Given the description of an element on the screen output the (x, y) to click on. 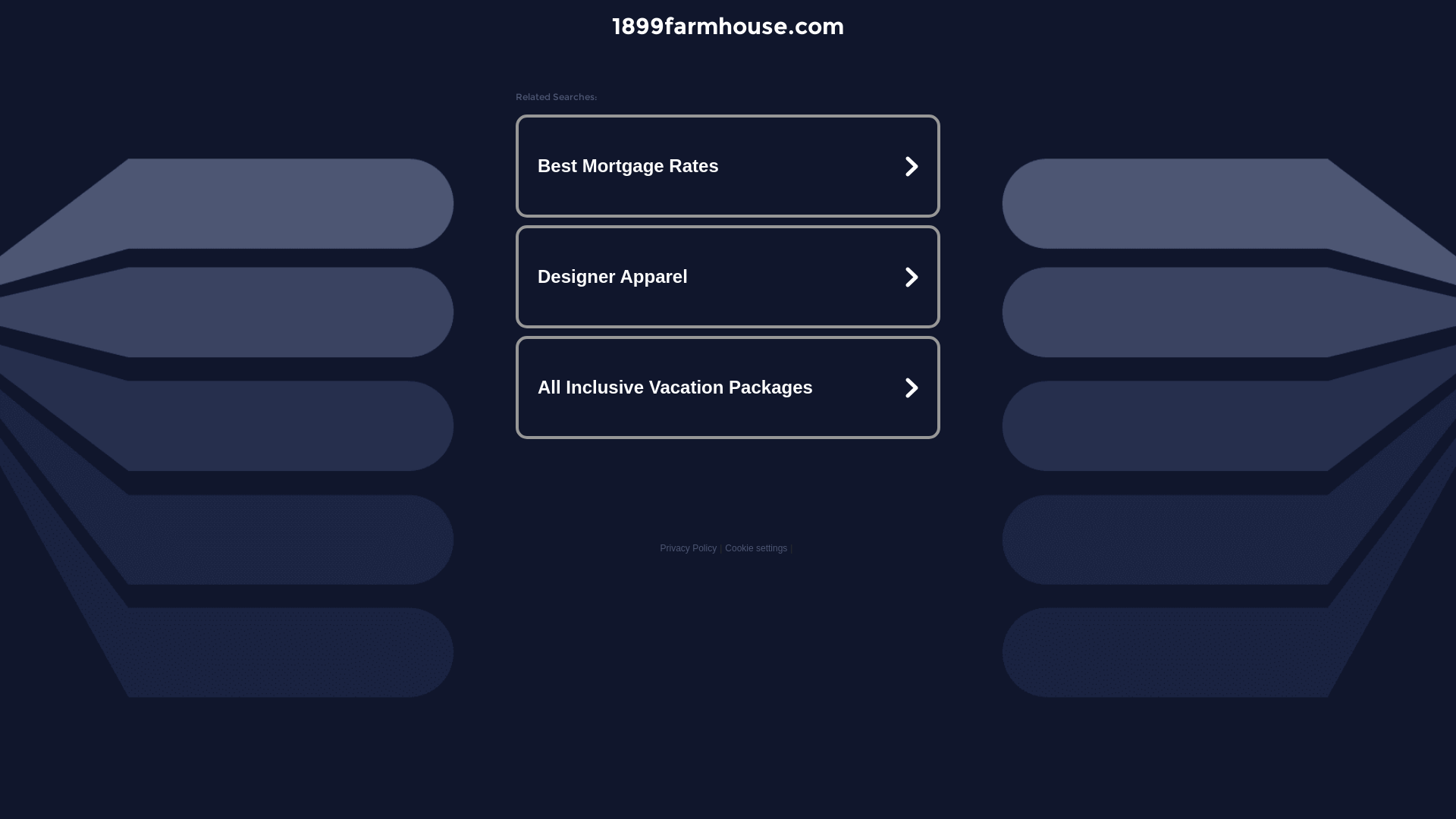
1899farmhouse.com Element type: text (727, 26)
Privacy Policy Element type: text (687, 547)
All Inclusive Vacation Packages Element type: text (727, 387)
Best Mortgage Rates Element type: text (727, 165)
Cookie settings Element type: text (755, 547)
Designer Apparel Element type: text (727, 276)
